Given the description of an element on the screen output the (x, y) to click on. 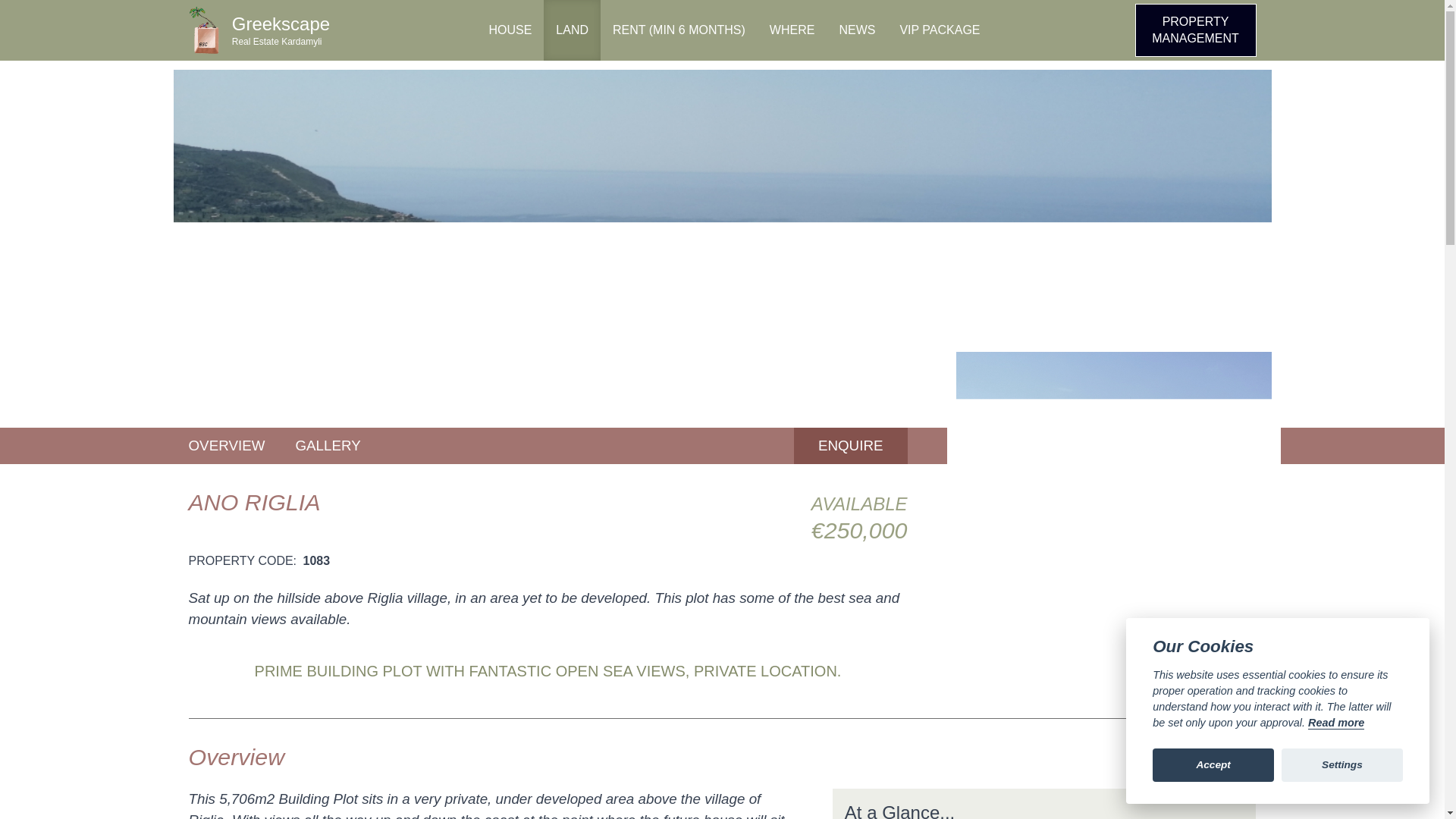
NEWS (856, 30)
Read more (1335, 722)
OVERVIEW (225, 445)
PROPERTY MANAGEMENT (1194, 30)
ENQUIRE (850, 445)
LAND (571, 30)
VIP PACKAGE (938, 30)
WHERE (260, 29)
Accept (792, 30)
